Given the description of an element on the screen output the (x, y) to click on. 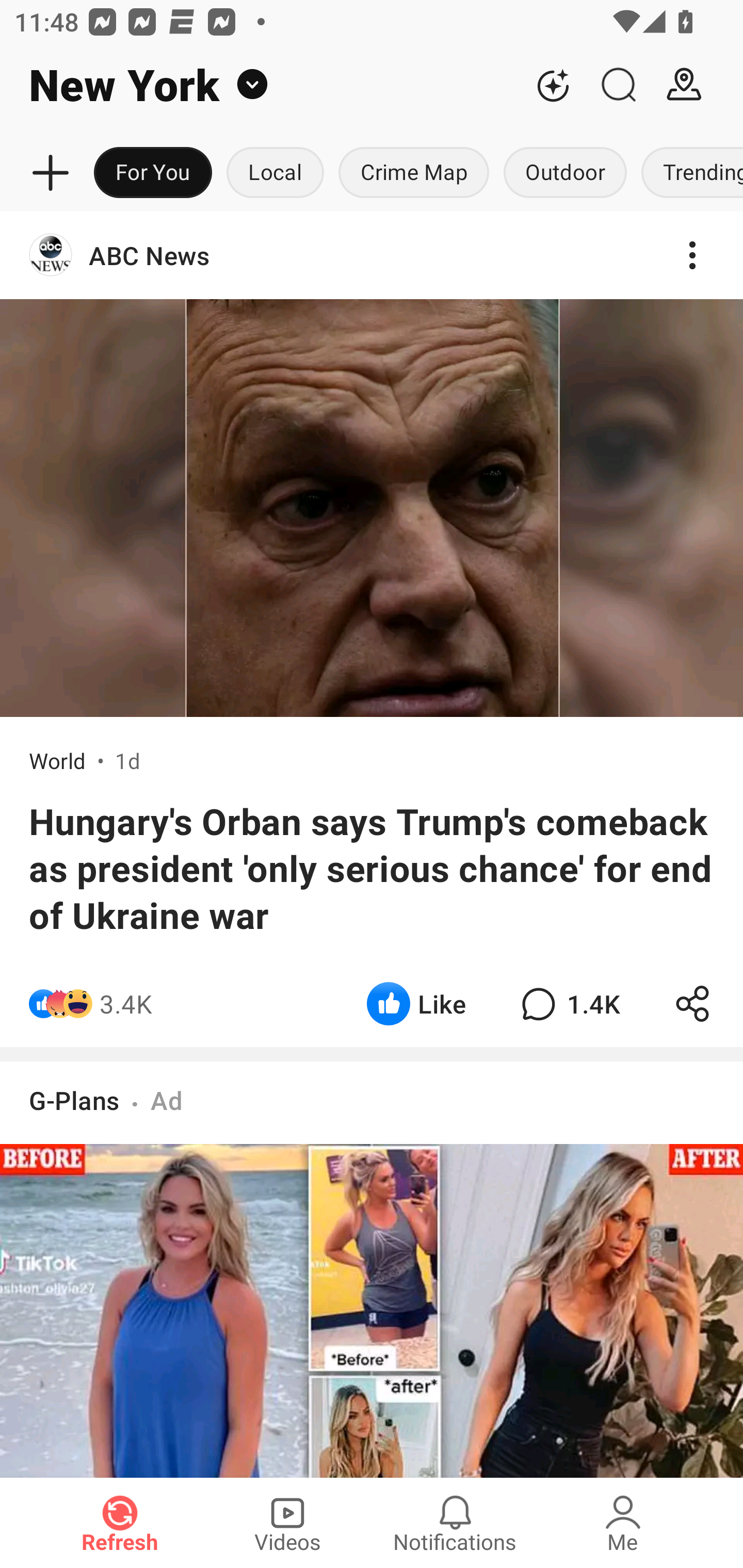
New York (260, 84)
For You (152, 172)
Local (275, 172)
Crime Map (413, 172)
Outdoor (564, 172)
Trending (688, 172)
ABC News (371, 255)
3.4K (125, 1003)
Like (416, 1003)
1.4K (568, 1003)
G-Plans (73, 1099)
Videos (287, 1522)
Notifications (455, 1522)
Me (622, 1522)
